Given the description of an element on the screen output the (x, y) to click on. 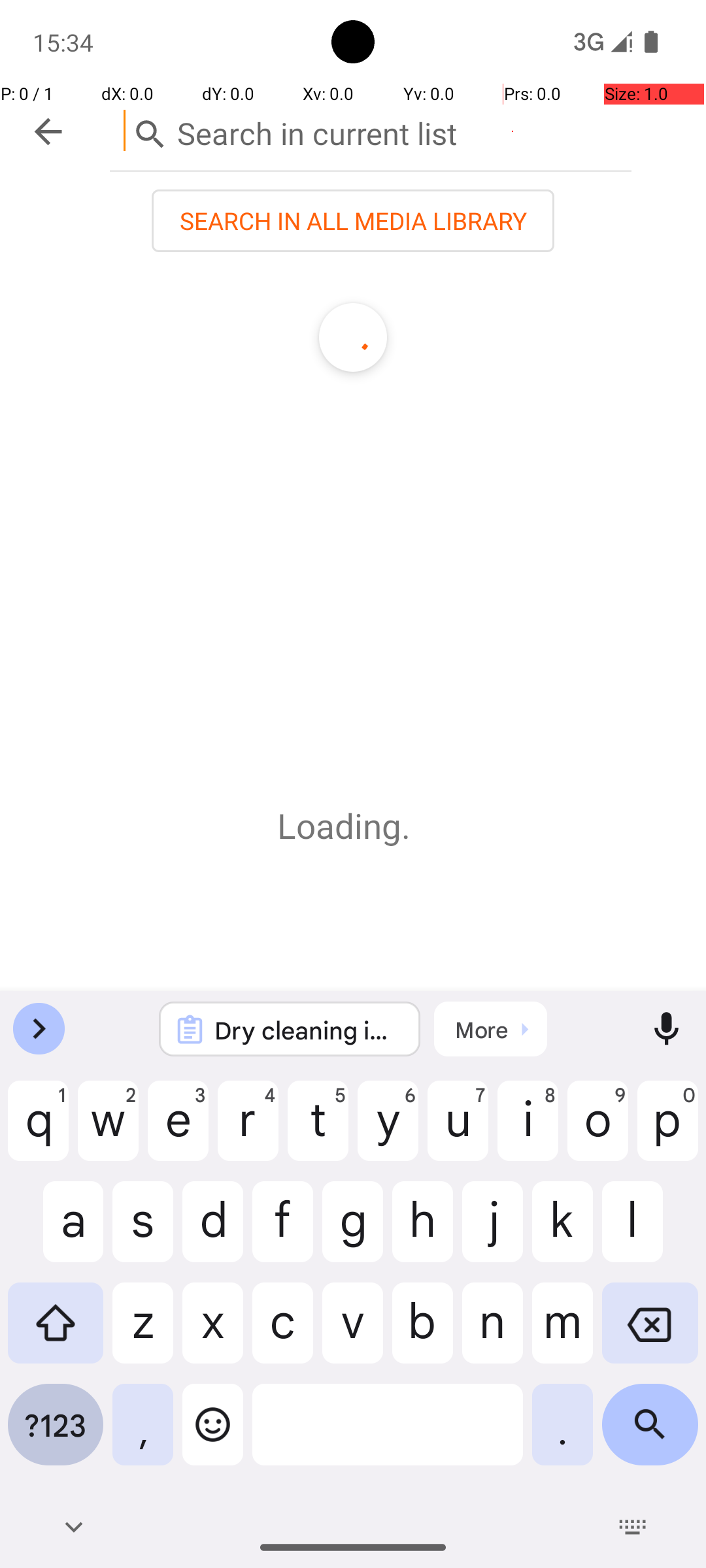
SEARCH IN ALL MEDIA LIBRARY Element type: android.widget.Button (352, 220)
   Search in current list Element type: android.widget.AutoCompleteTextView (370, 130)
